Given the description of an element on the screen output the (x, y) to click on. 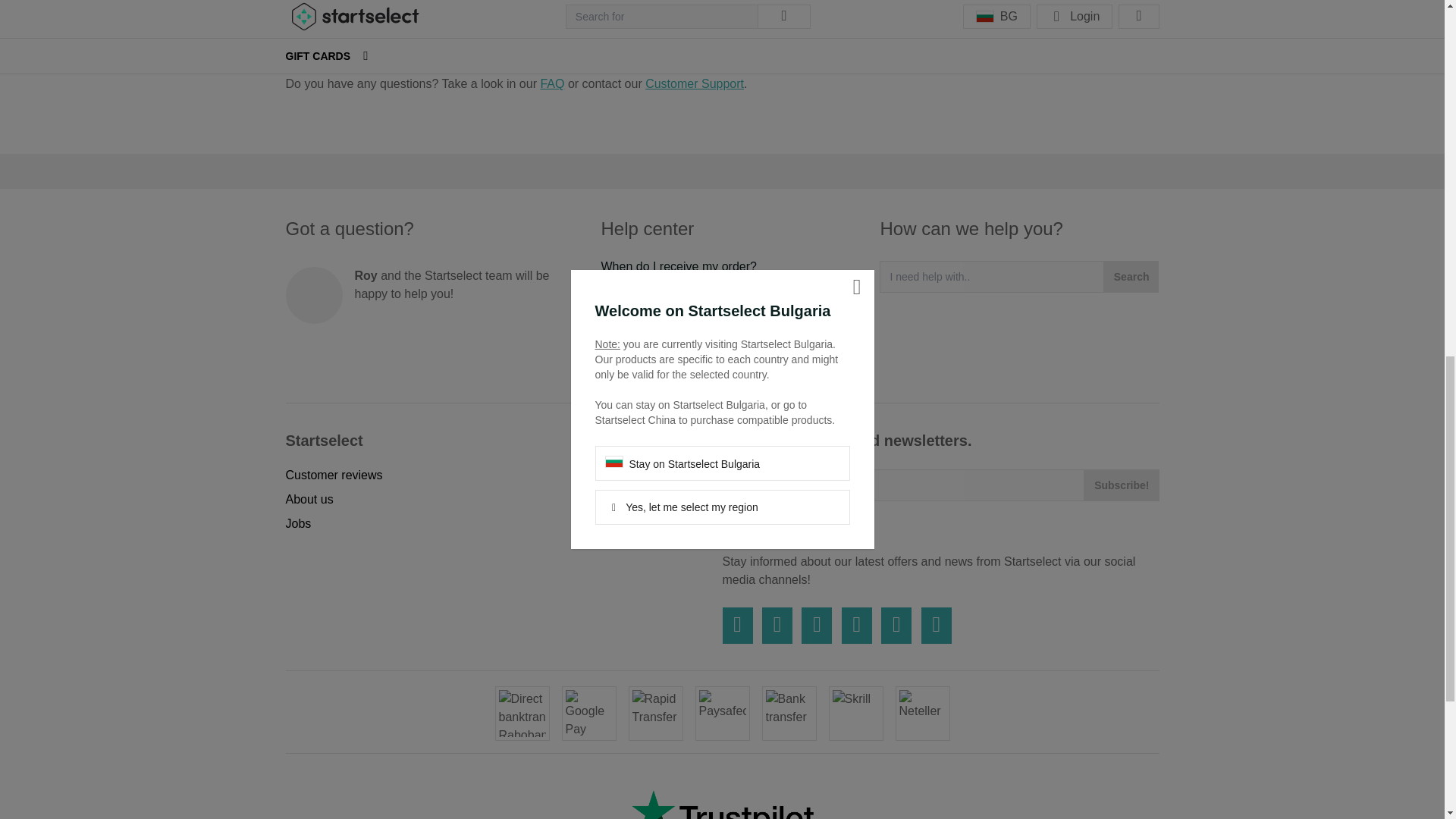
FAQ (552, 83)
When do I receive my order? (677, 266)
Contact (620, 363)
Warranty (624, 314)
Warranty (624, 314)
Search (1130, 276)
Help with codes (642, 290)
When do I receive my order? (677, 266)
Cancellation and returns (665, 338)
Customer Support (694, 83)
